Given the description of an element on the screen output the (x, y) to click on. 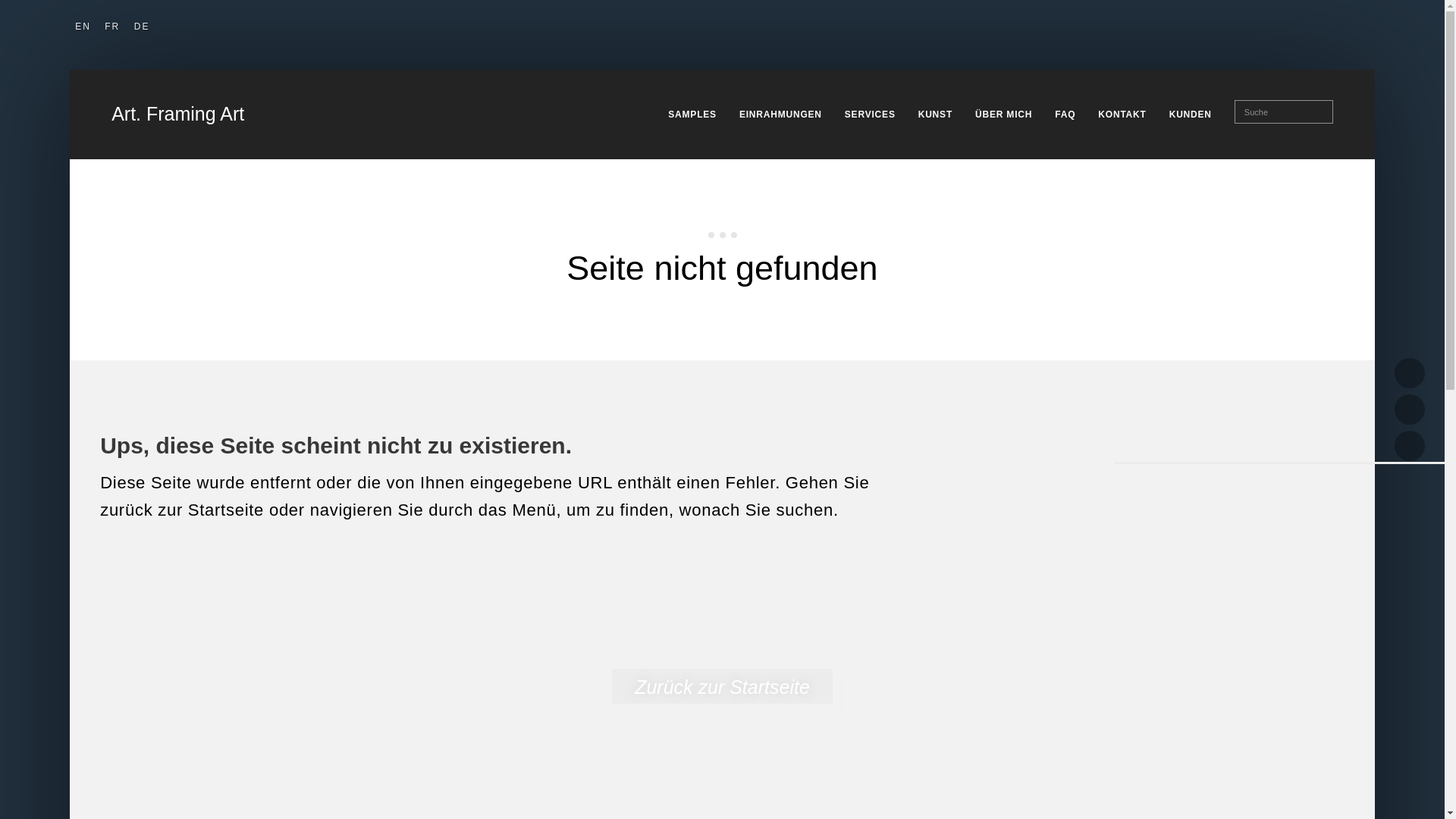
Art. Framing Art Instagram (1409, 445)
KUNST (935, 114)
DE (141, 26)
EN (82, 26)
FAQ (1064, 114)
EINRAHMUNGEN (780, 114)
Samples (692, 114)
Einrahmungen (780, 114)
Kunden (1189, 114)
Kontakt (1121, 114)
